Given the description of an element on the screen output the (x, y) to click on. 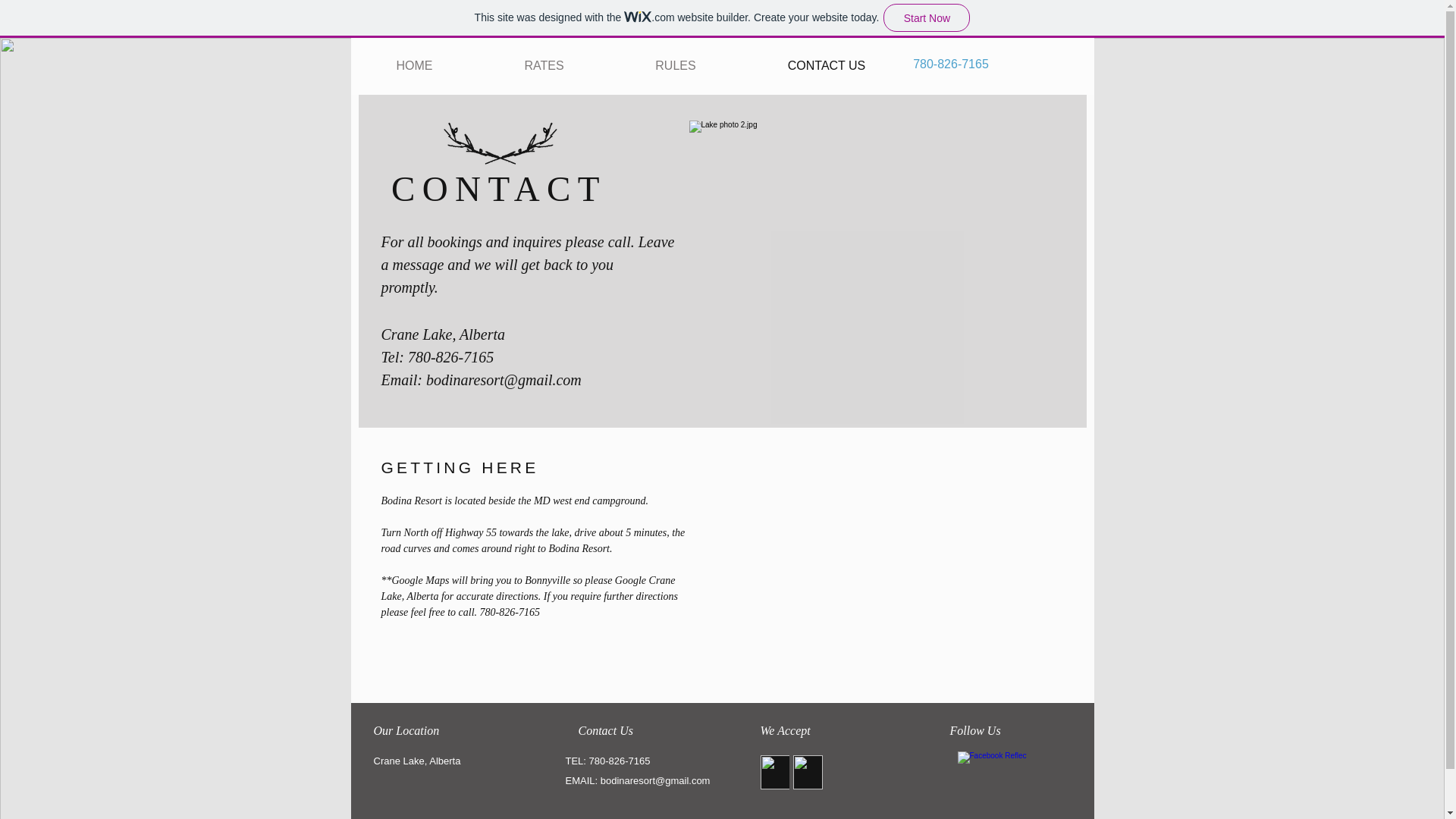
CONTACT US (826, 65)
RULES (675, 65)
RATES (542, 65)
HOME (413, 65)
